Given the description of an element on the screen output the (x, y) to click on. 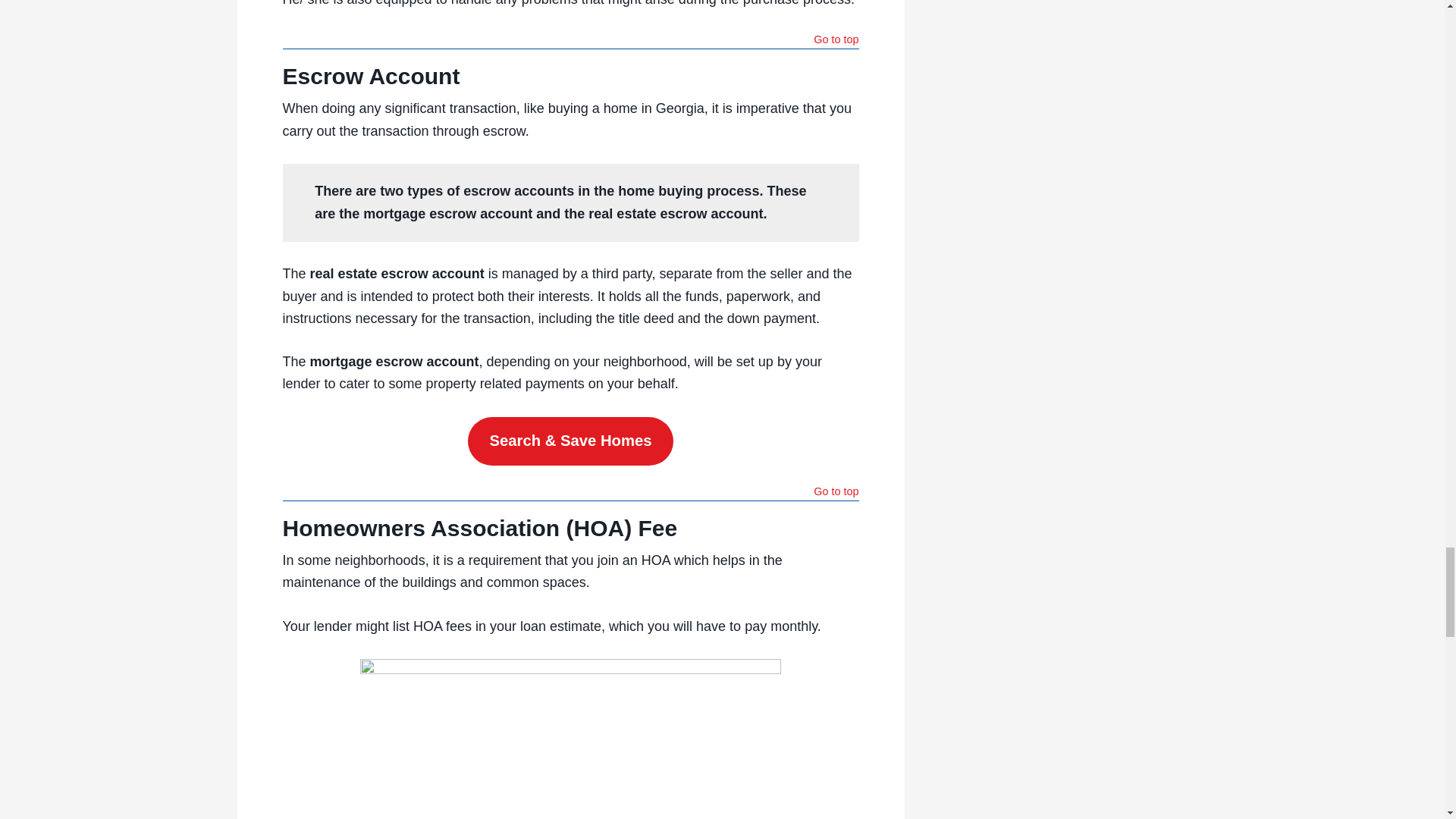
Go to top (836, 41)
Go to top (836, 493)
